Given the description of an element on the screen output the (x, y) to click on. 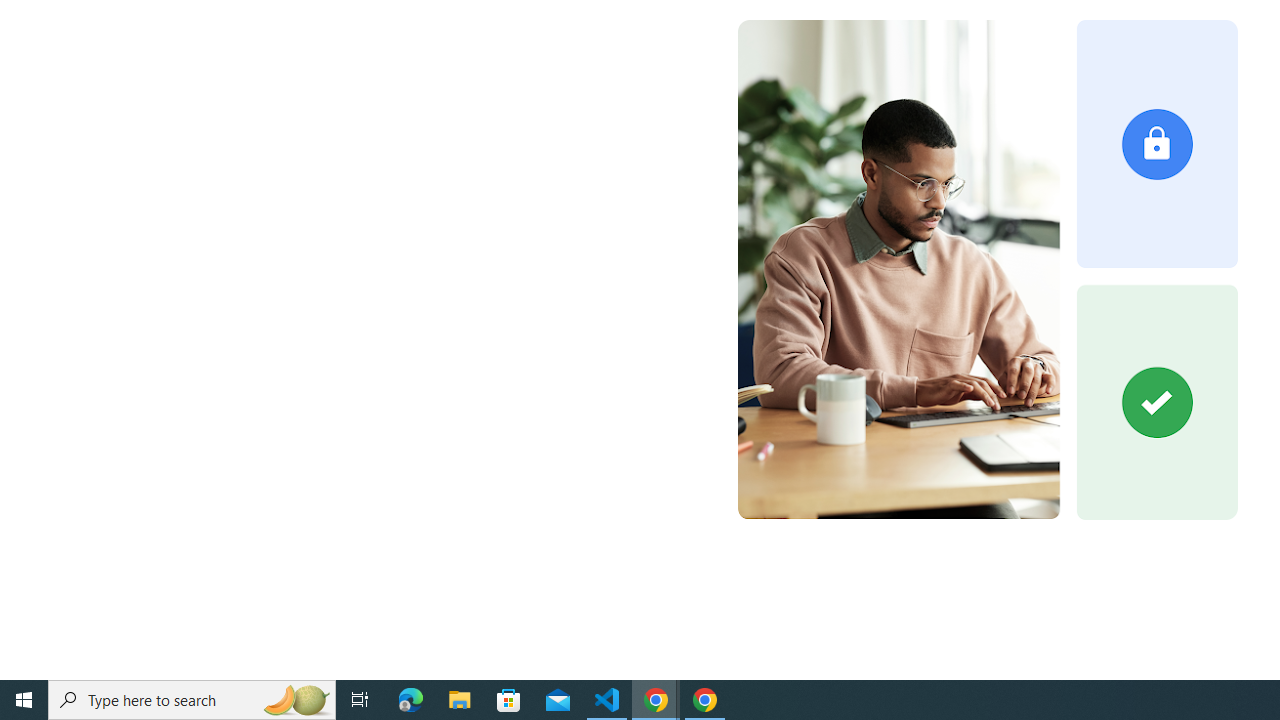
Task View (359, 699)
Start (24, 699)
Type here to search (191, 699)
Microsoft Store (509, 699)
Visual Studio Code - 1 running window (607, 699)
Search highlights icon opens search home window (295, 699)
Google Chrome - 2 running windows (656, 699)
Microsoft Edge (411, 699)
Google Chrome - 1 running window (704, 699)
File Explorer (460, 699)
